Given the description of an element on the screen output the (x, y) to click on. 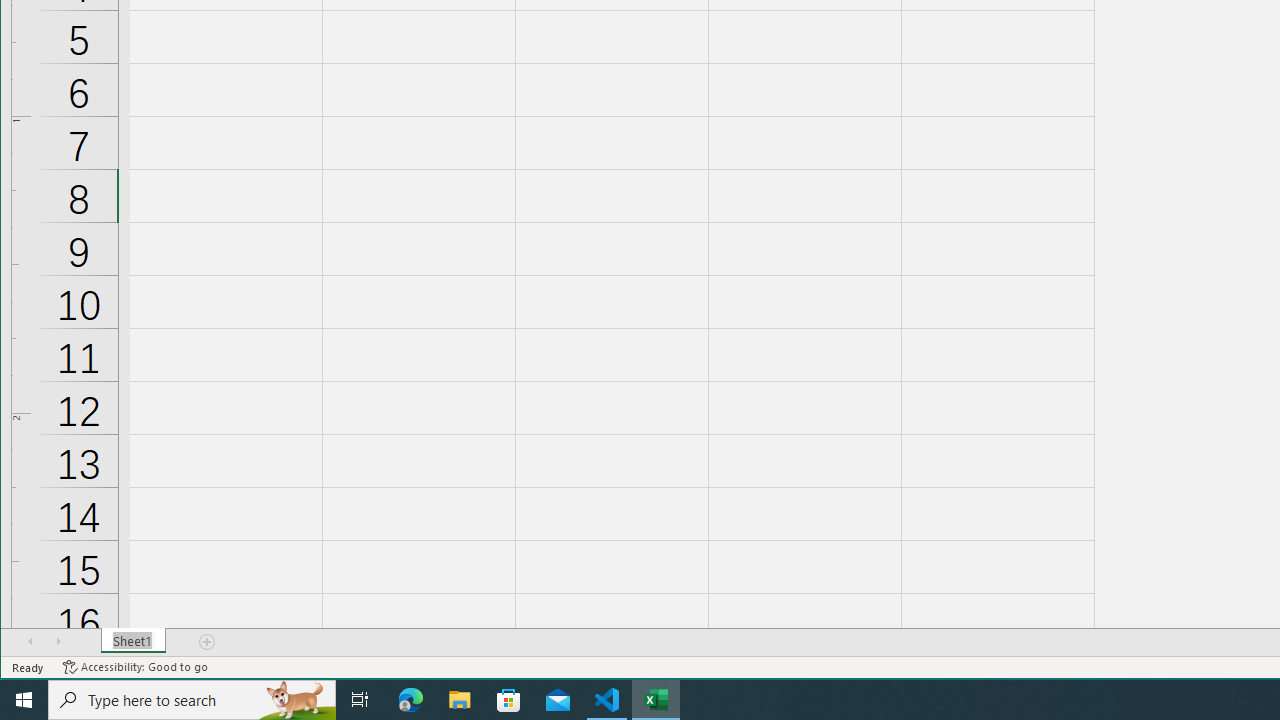
Sheet Tab (133, 641)
